Given the description of an element on the screen output the (x, y) to click on. 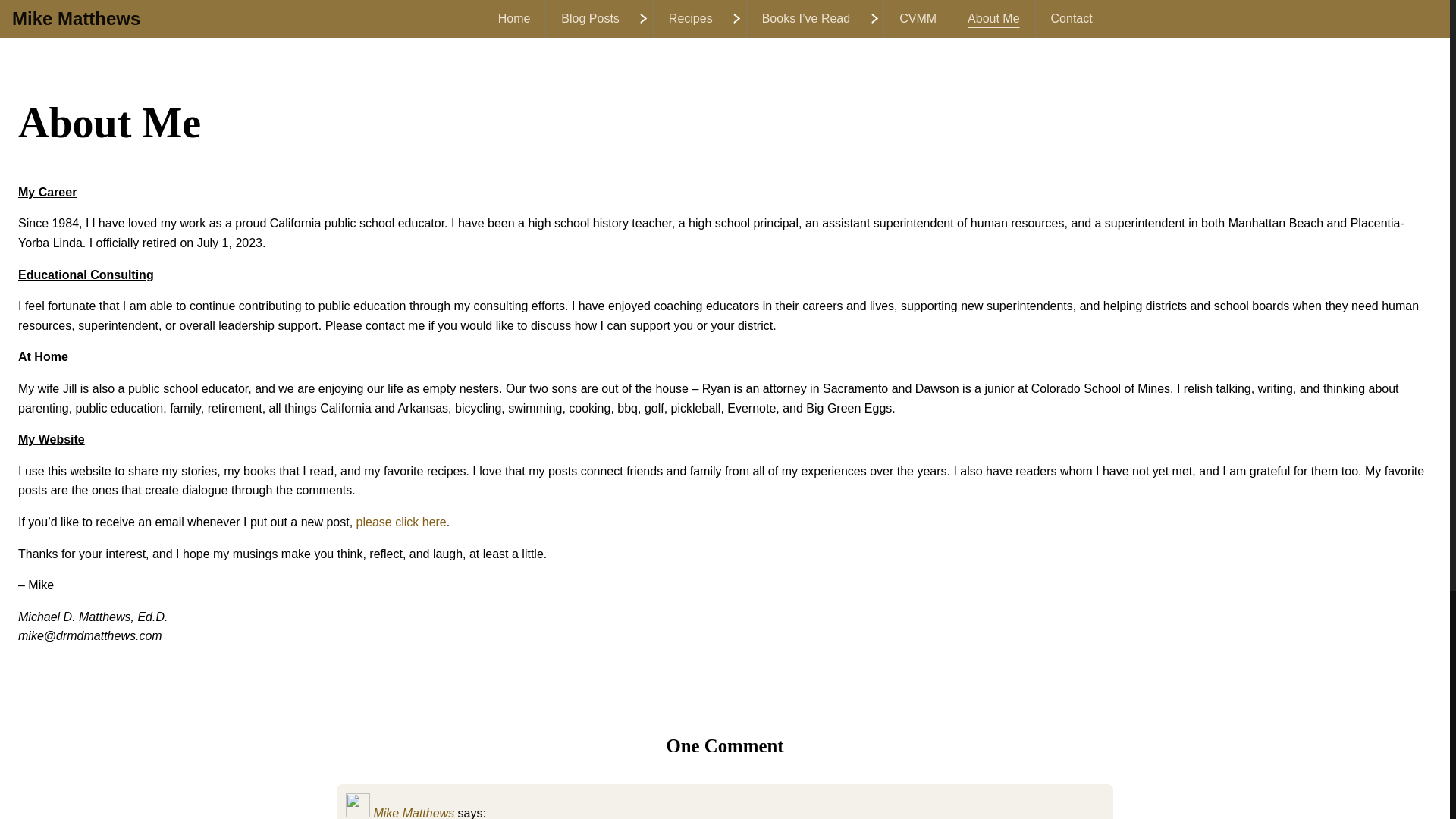
Recipes (690, 18)
Contact (1072, 18)
Home (514, 18)
Mike Matthews (75, 18)
please click here (401, 521)
Blog Posts (589, 18)
About Me (992, 18)
Mike Matthews (413, 812)
CVMM (916, 18)
